Given the description of an element on the screen output the (x, y) to click on. 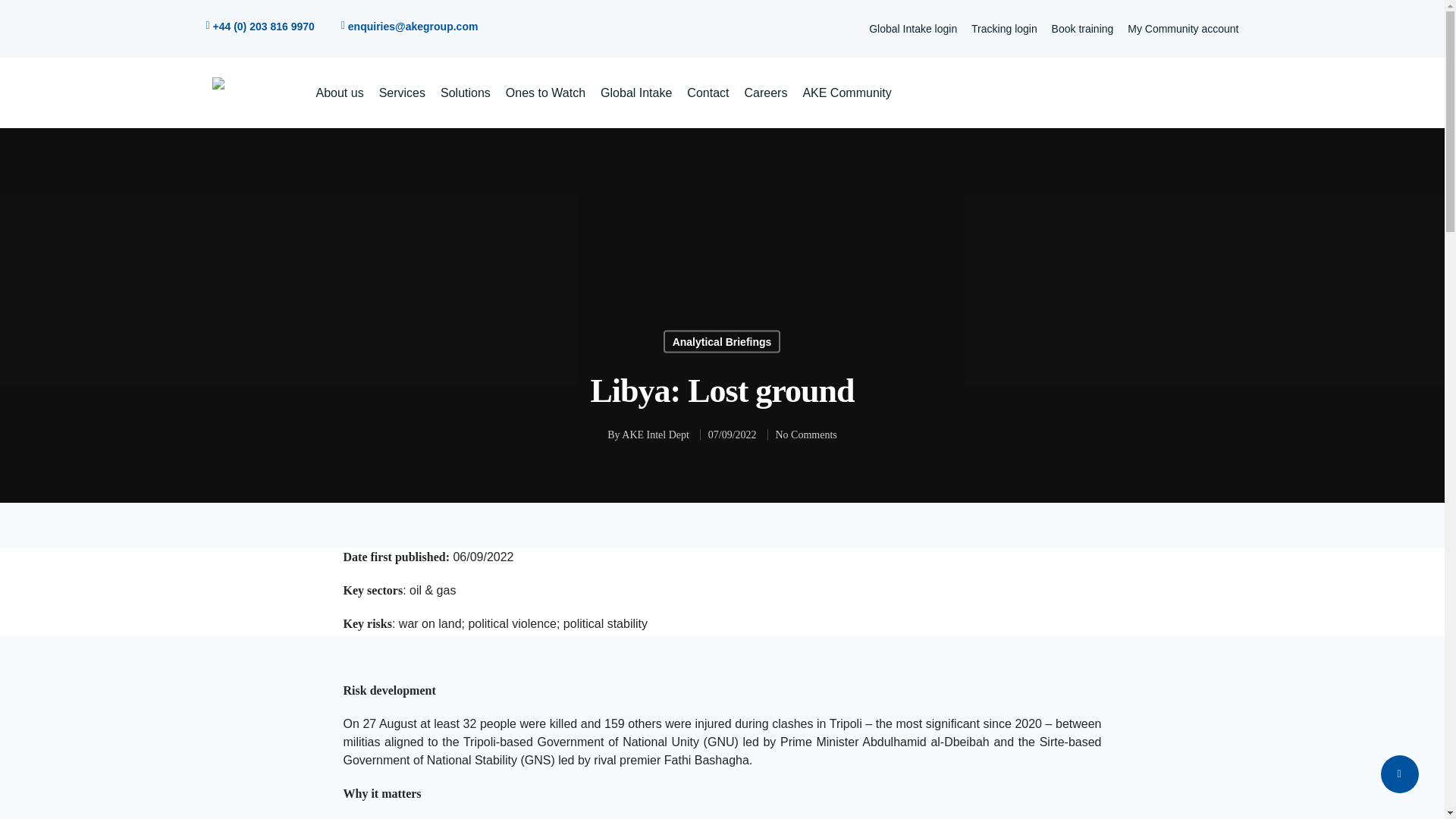
About us (338, 92)
Tracking login (1003, 28)
AKE Community (846, 92)
Solutions (465, 92)
Posts by AKE Intel Dept (654, 434)
Global Intake login (912, 28)
My Community account (1182, 28)
Careers (765, 92)
Services (401, 92)
Analytical Briefings (721, 341)
